Given the description of an element on the screen output the (x, y) to click on. 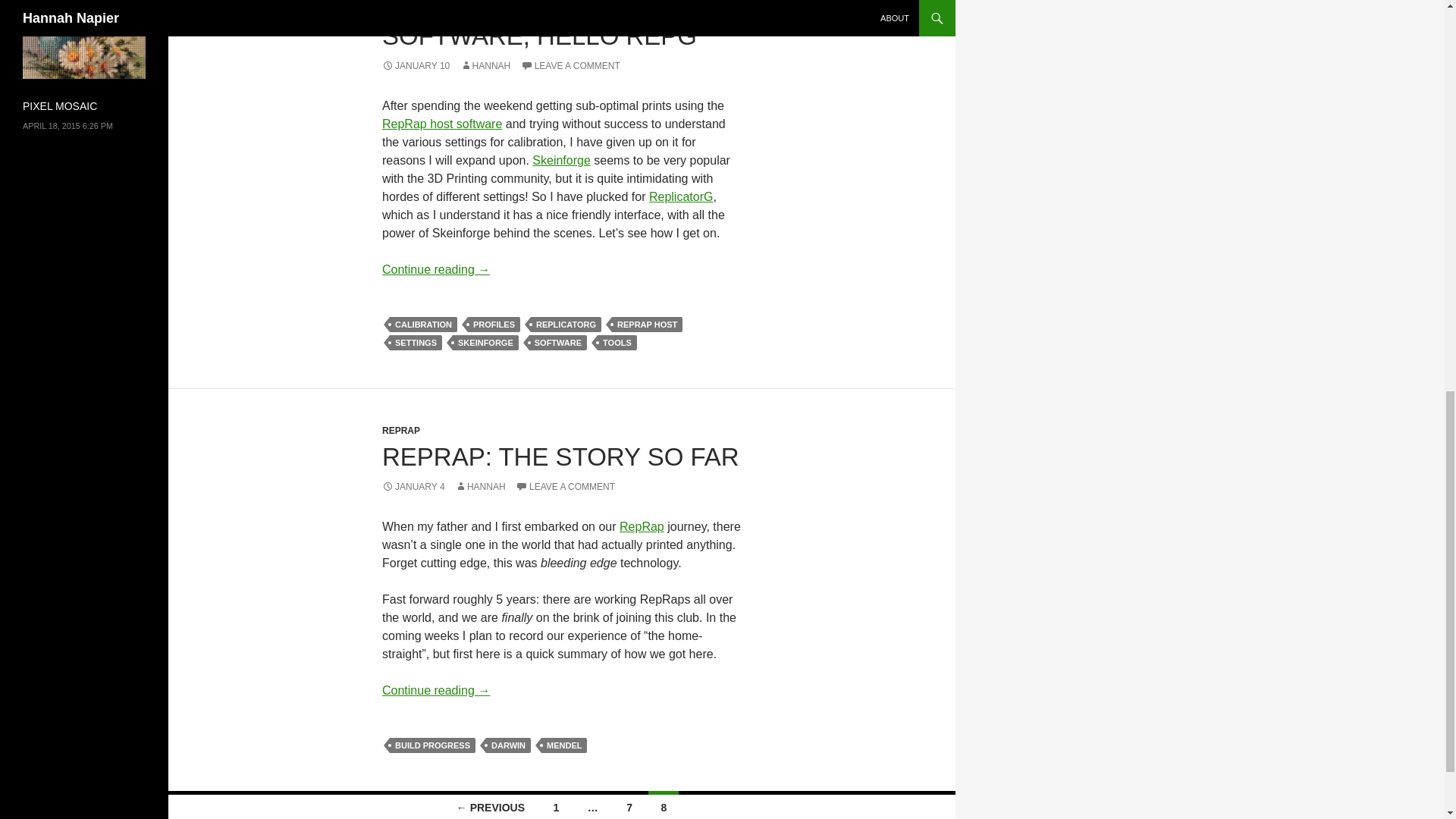
RepRap host software (441, 123)
GOODBYE REPRAP HOST SOFTWARE, HELLO REPG (539, 24)
RepRap Host Software (441, 123)
HANNAH (485, 65)
Skeinforge Wiki (561, 160)
Skeinforge (561, 160)
ReplicatorG (681, 196)
JANUARY 10 (415, 65)
LEAVE A COMMENT (570, 65)
ReplicatorG Home  (681, 196)
